Given the description of an element on the screen output the (x, y) to click on. 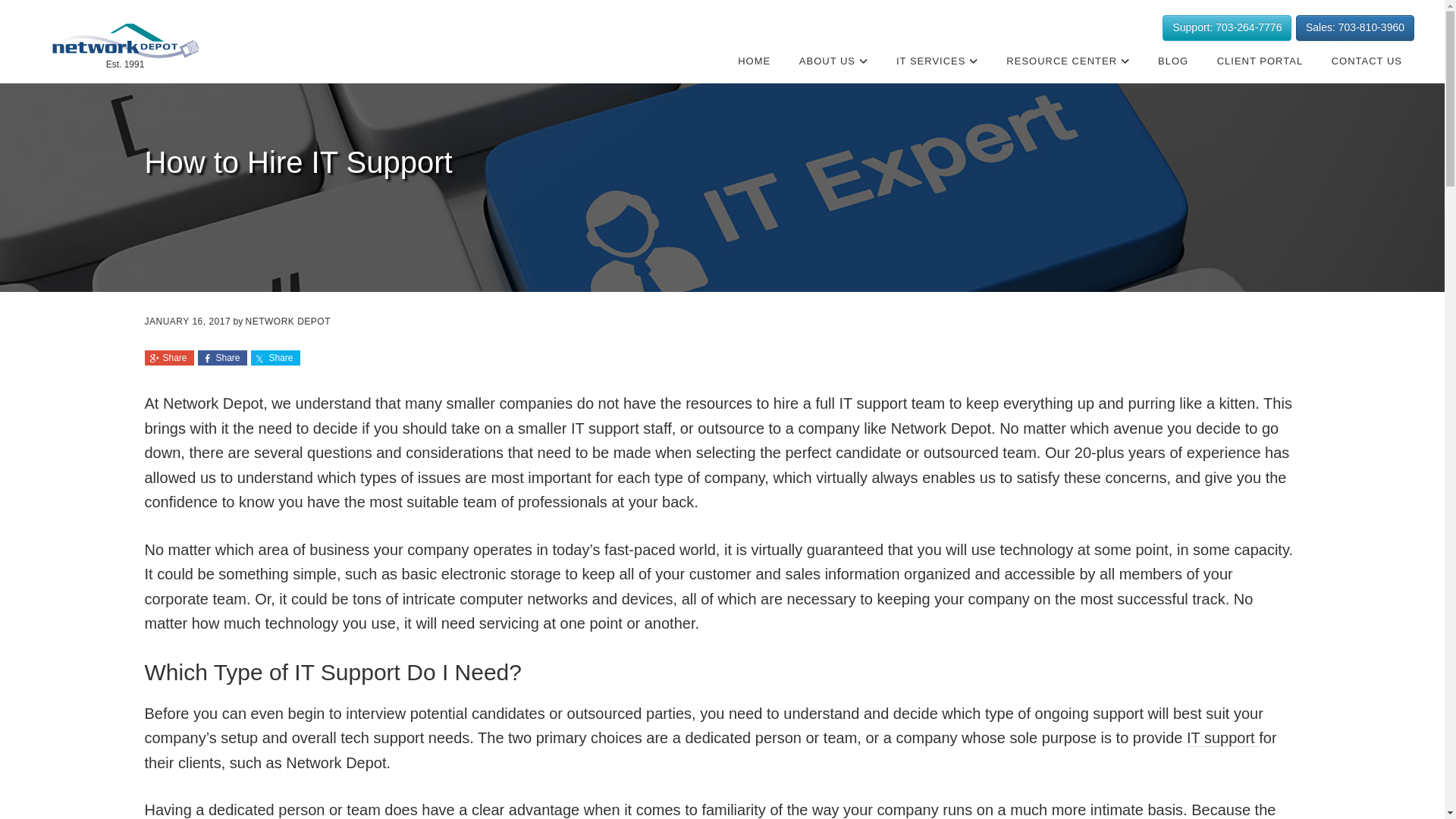
Sales: 703-810-3960 (1354, 27)
NETWORK DEPOT (124, 40)
ABOUT US (833, 60)
Support: 703-264-7776 (1226, 27)
HOME (754, 60)
